Given the description of an element on the screen output the (x, y) to click on. 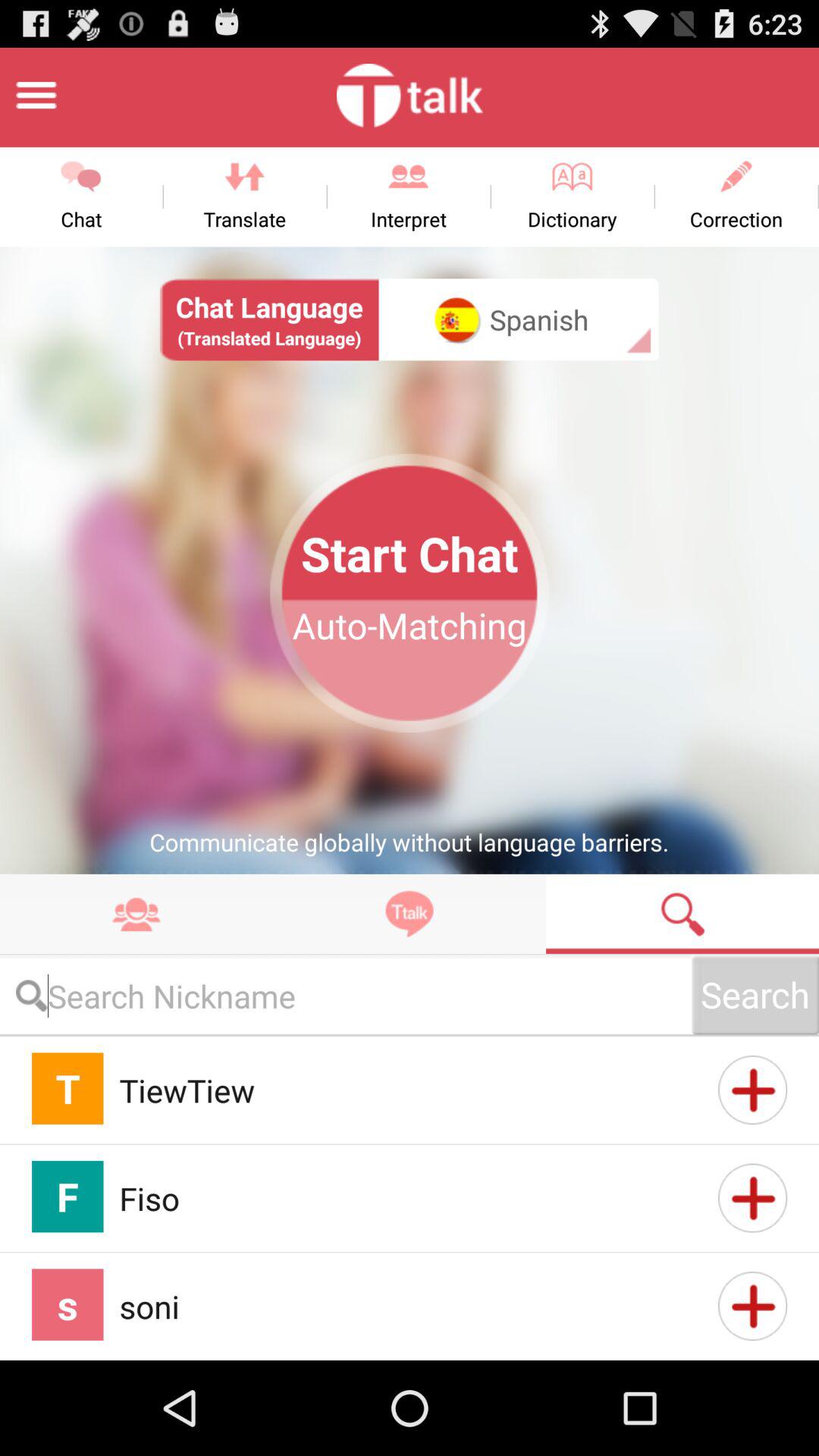
add more details (752, 1089)
